Given the description of an element on the screen output the (x, y) to click on. 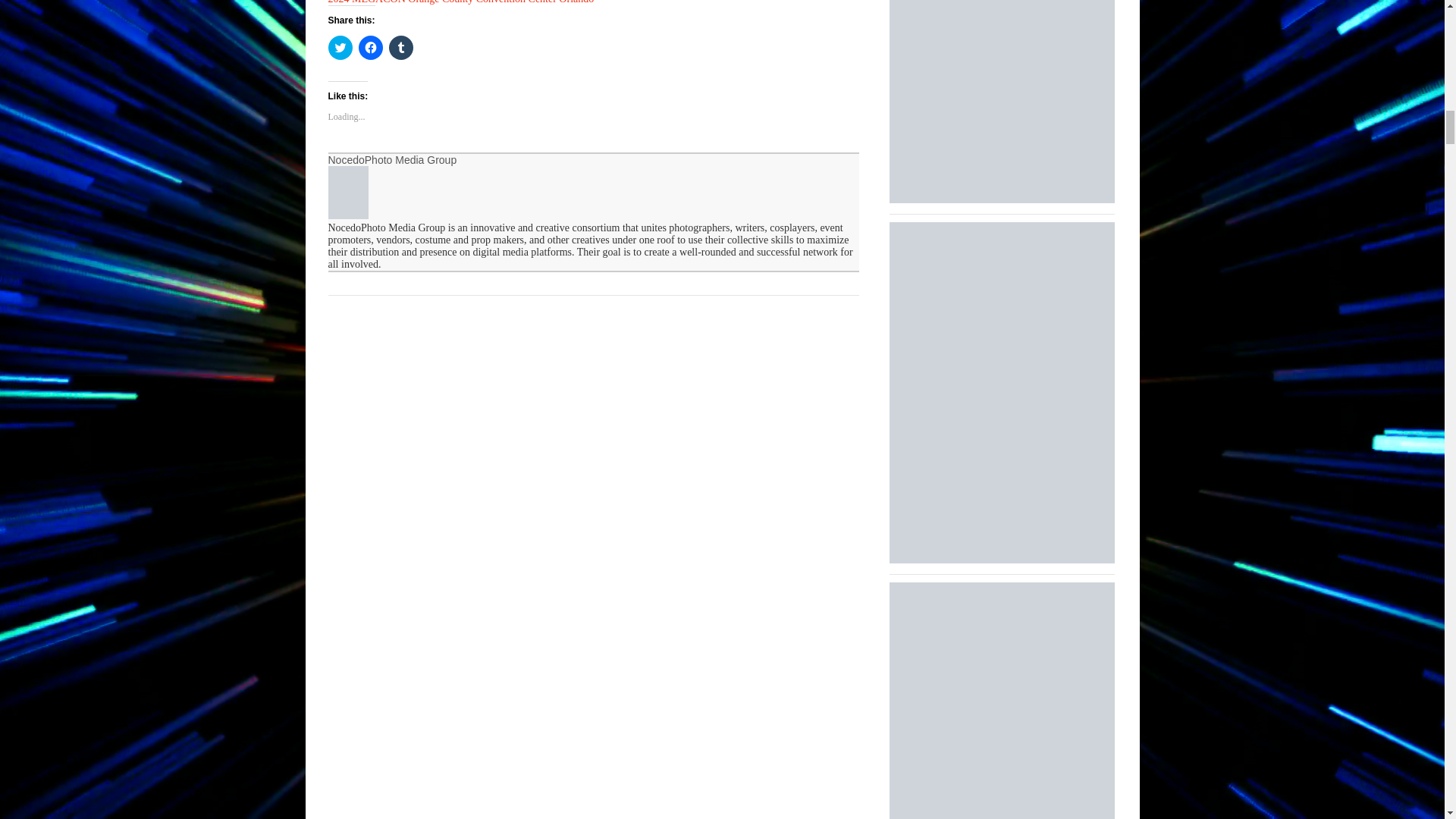
Click to share on Tumblr (400, 47)
All posts by NocedoPhoto Media Group (392, 159)
Click to share on Facebook (369, 47)
Click to share on Twitter (339, 47)
